Given the description of an element on the screen output the (x, y) to click on. 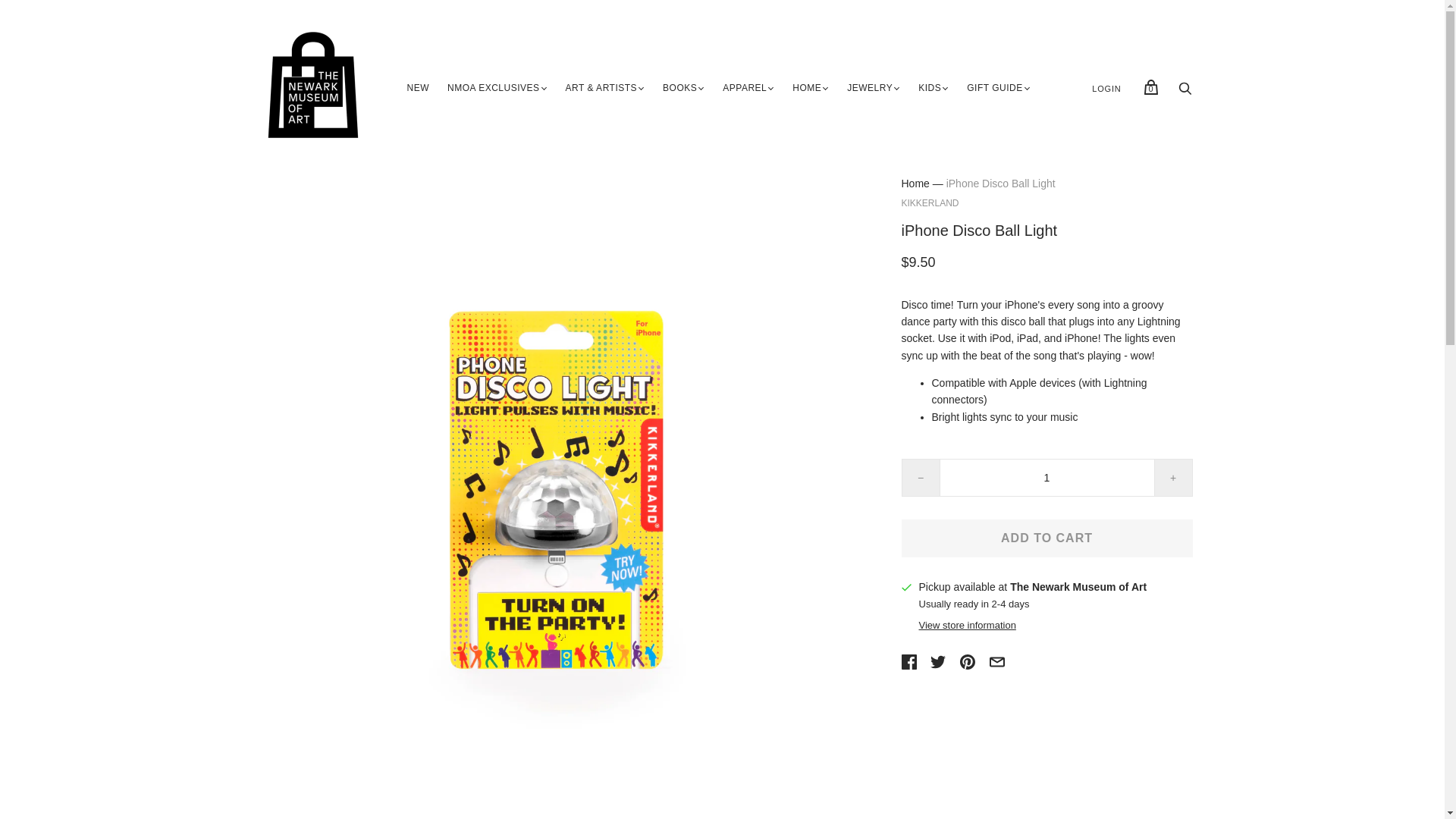
APPAREL (744, 88)
HOME (806, 88)
1 (1046, 477)
NMOA EXCLUSIVES (493, 88)
NEW (417, 88)
Home (914, 183)
BOOKS (679, 88)
